Given the description of an element on the screen output the (x, y) to click on. 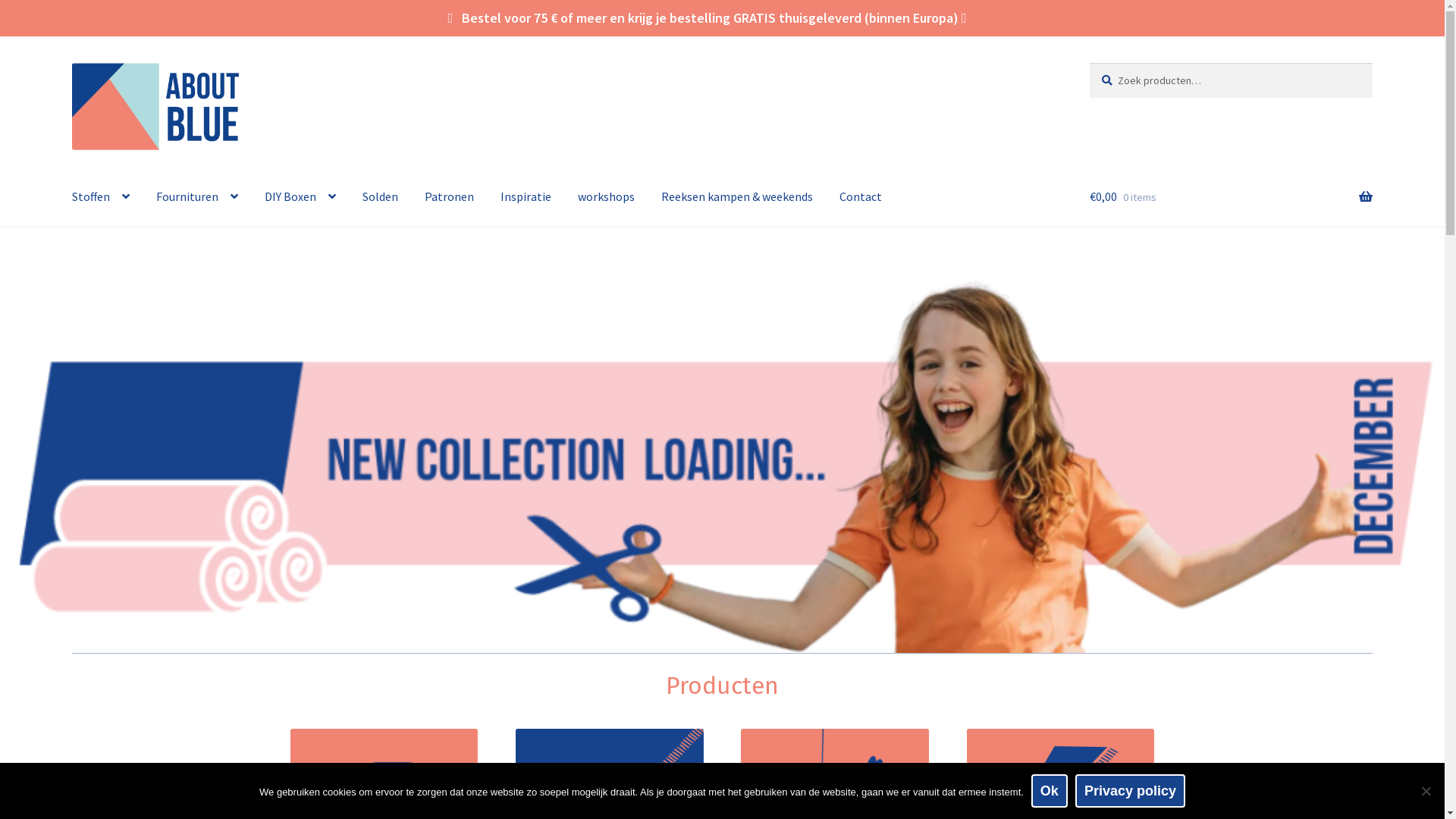
Fournituren Element type: text (197, 196)
Cookiebeleid Element type: text (295, 791)
DIY Boxen Element type: text (300, 196)
Contact Element type: text (860, 196)
Privacy policy Element type: text (1130, 790)
Patronen Element type: text (449, 196)
Zoeken Element type: text (1088, 62)
Ok Element type: text (1049, 790)
Solden Element type: text (380, 196)
Nee Element type: hover (1425, 790)
Ga door naar navigatie Element type: text (71, 62)
workshops Element type: text (605, 196)
Sluiten en bevestigen Element type: text (1367, 786)
Reeksen kampen & weekends Element type: text (737, 196)
Inspiratie Element type: text (525, 196)
Stoffen Element type: text (100, 196)
